Given the description of an element on the screen output the (x, y) to click on. 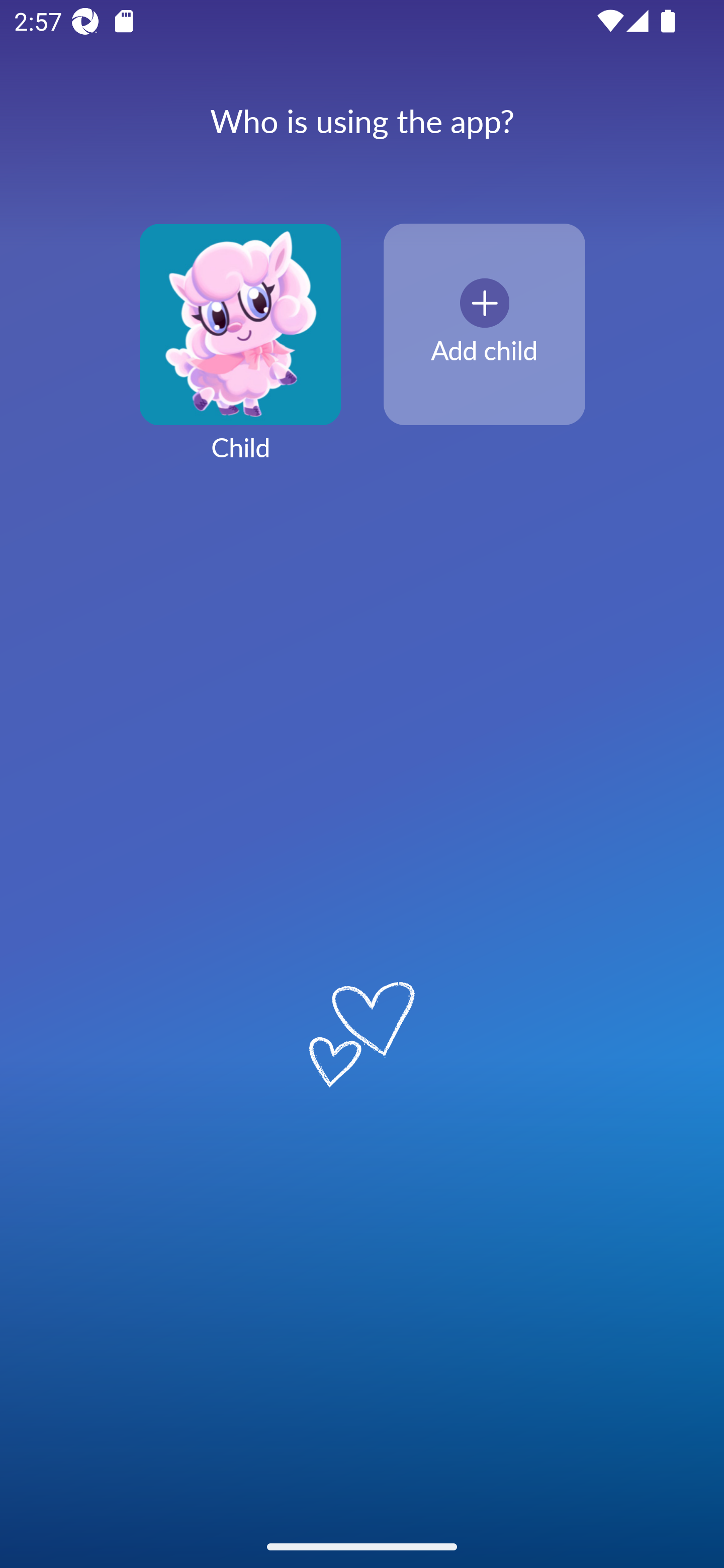
Child (240, 354)
Add child (483, 324)
